Given the description of an element on the screen output the (x, y) to click on. 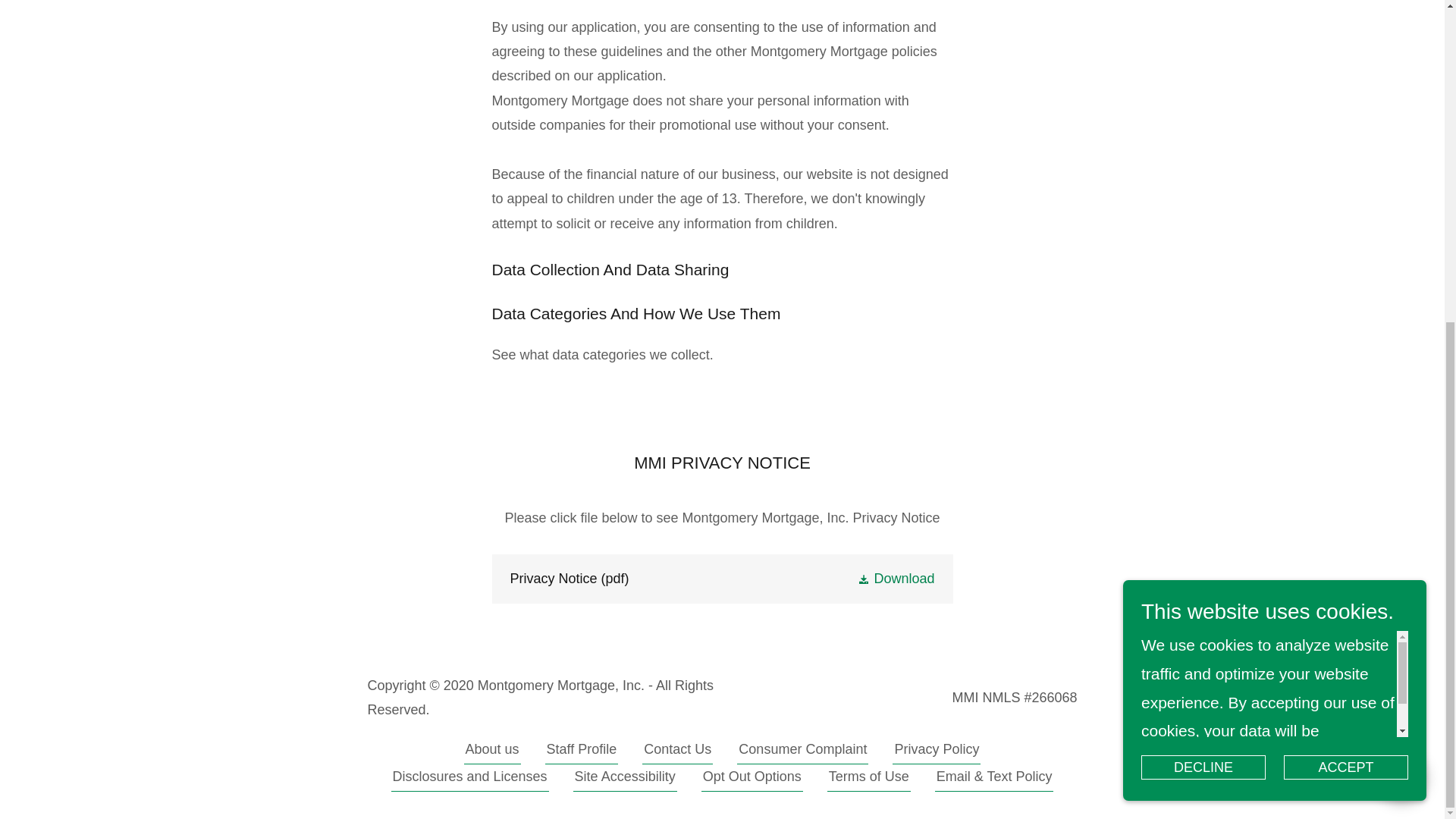
Contact Us (677, 752)
ACCEPT (1345, 242)
Terms of Use (869, 779)
About us (492, 752)
Staff Profile (581, 752)
DECLINE (1203, 242)
Site Accessibility (625, 779)
Opt Out Options (752, 779)
Privacy Policy (935, 752)
Disclosures and Licenses (469, 779)
Consumer Complaint (801, 752)
